Given the description of an element on the screen output the (x, y) to click on. 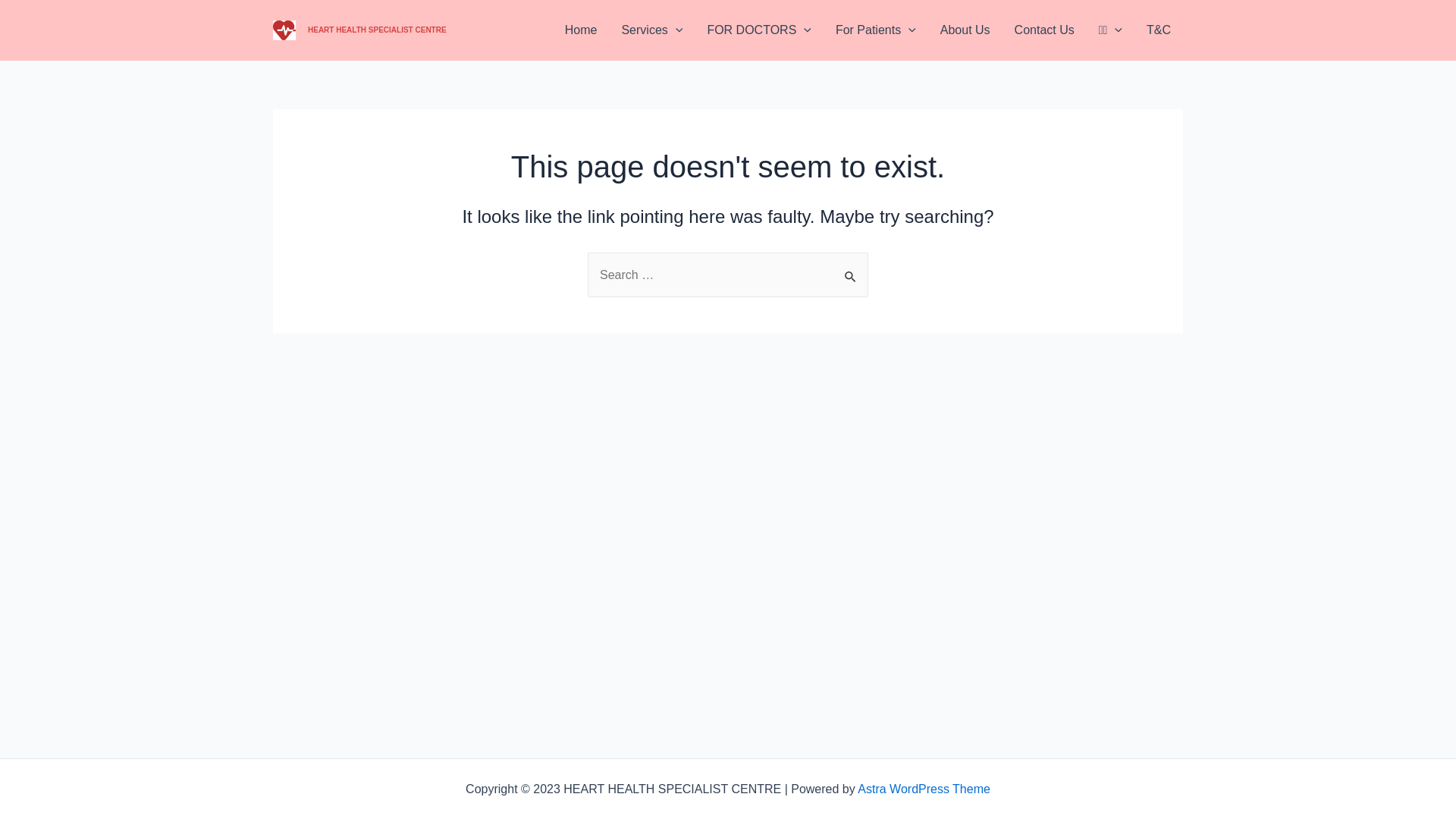
Astra WordPress Theme Element type: text (923, 788)
Home Element type: text (580, 30)
Search Element type: text (851, 268)
About Us Element type: text (965, 30)
T&C Element type: text (1158, 30)
Services Element type: text (651, 30)
HEART HEALTH SPECIALIST CENTRE Element type: text (376, 29)
Contact Us Element type: text (1044, 30)
For Patients Element type: text (875, 30)
FOR DOCTORS Element type: text (758, 30)
